Given the description of an element on the screen output the (x, y) to click on. 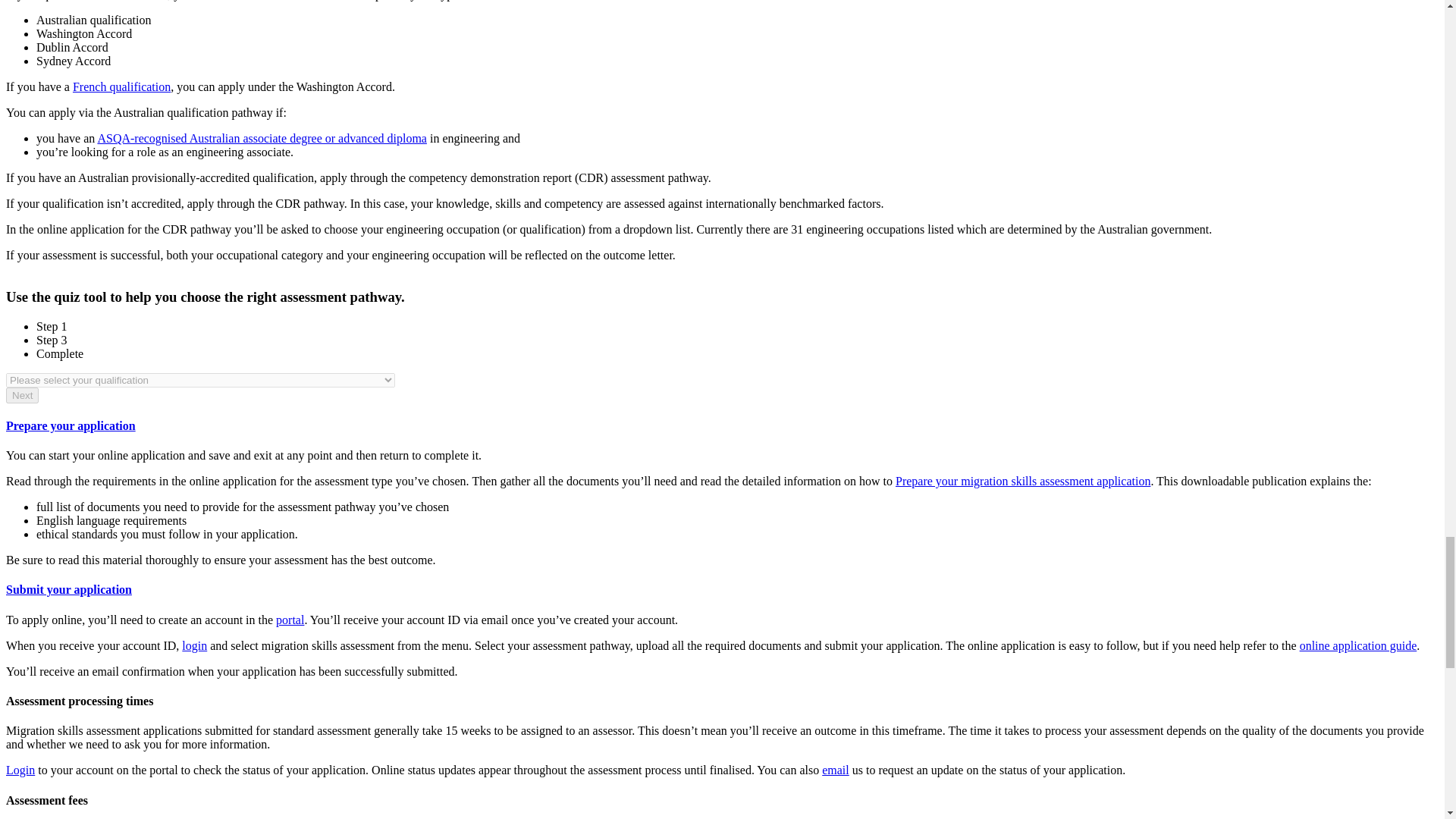
Next (22, 395)
Create a profile (290, 619)
Log in to your profile (194, 645)
Migration skills assessment online: applicant guide (1358, 645)
Prepare your migration skills assessment (1022, 481)
